Given the description of an element on the screen output the (x, y) to click on. 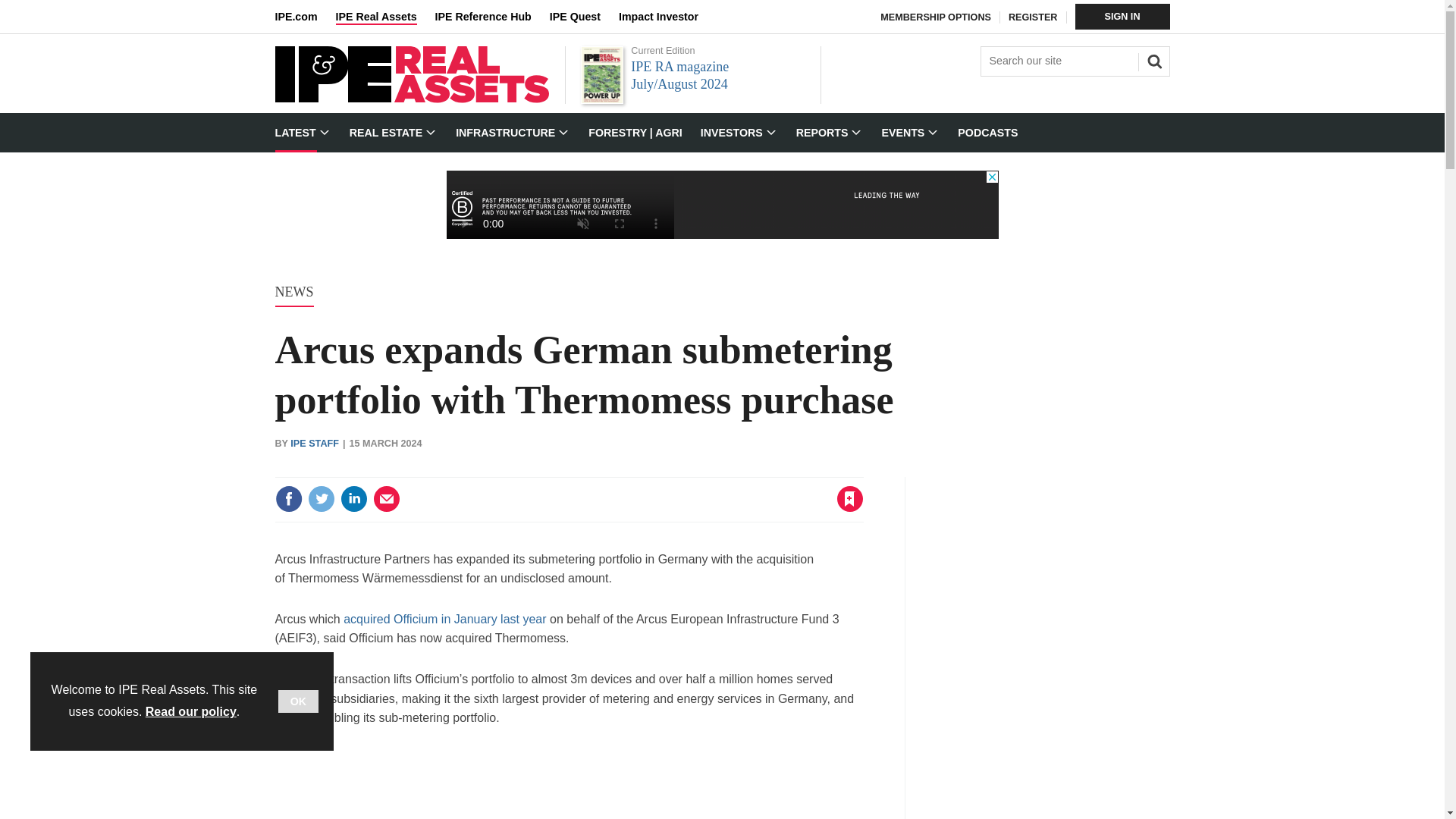
3rd party ad content (568, 784)
Share this on Twitter (320, 498)
IPE.com (304, 16)
MEMBERSHIP OPTIONS (935, 17)
Share this on Facebook (288, 498)
OK (298, 701)
IPE Quest (583, 16)
IPE Reference Hub (491, 16)
Impact Investor (667, 16)
Read our policy (190, 711)
3rd party ad content (1055, 647)
Share this on Linked in (352, 498)
IPE Reference Hub (491, 16)
Email this article (386, 498)
Real Assets (411, 98)
